Given the description of an element on the screen output the (x, y) to click on. 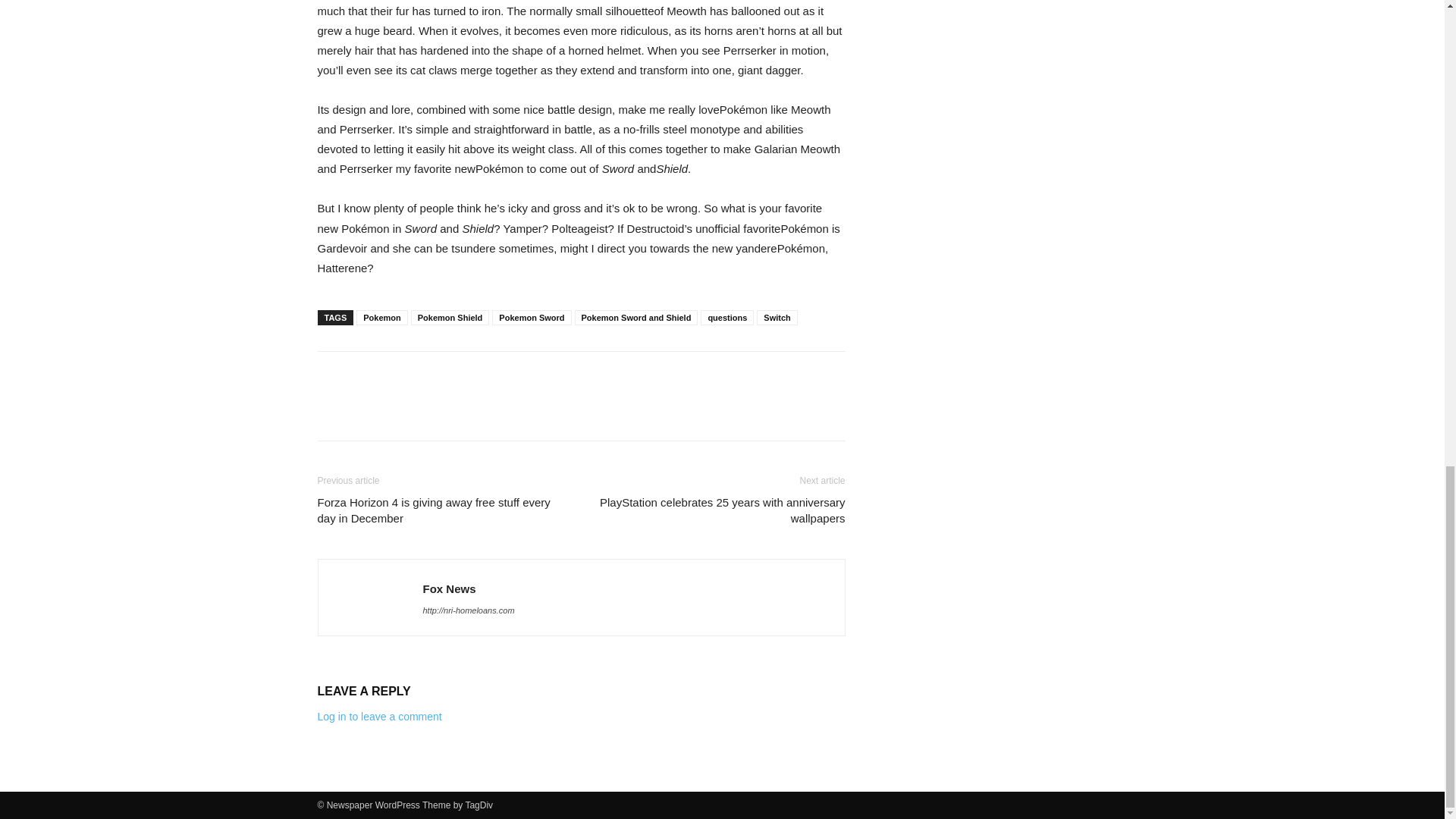
Pokemon (381, 317)
Switch (776, 317)
Pokemon Sword (531, 317)
bottomFacebookLike (430, 375)
Pokemon Shield (449, 317)
Pokemon Sword and Shield (636, 317)
questions (727, 317)
